Given the description of an element on the screen output the (x, y) to click on. 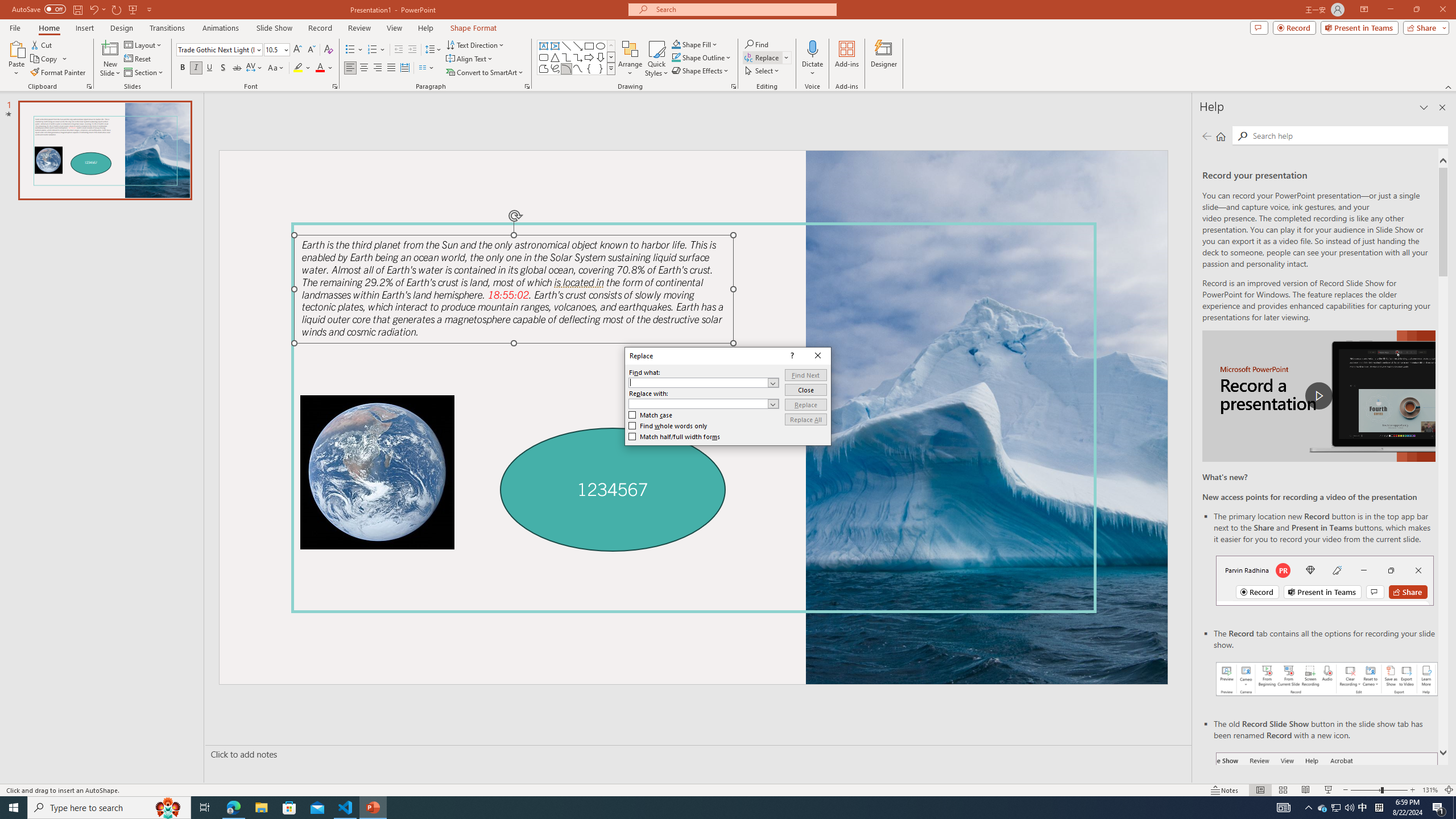
Shape Fill Aqua, Accent 2 (675, 44)
